Given the description of an element on the screen output the (x, y) to click on. 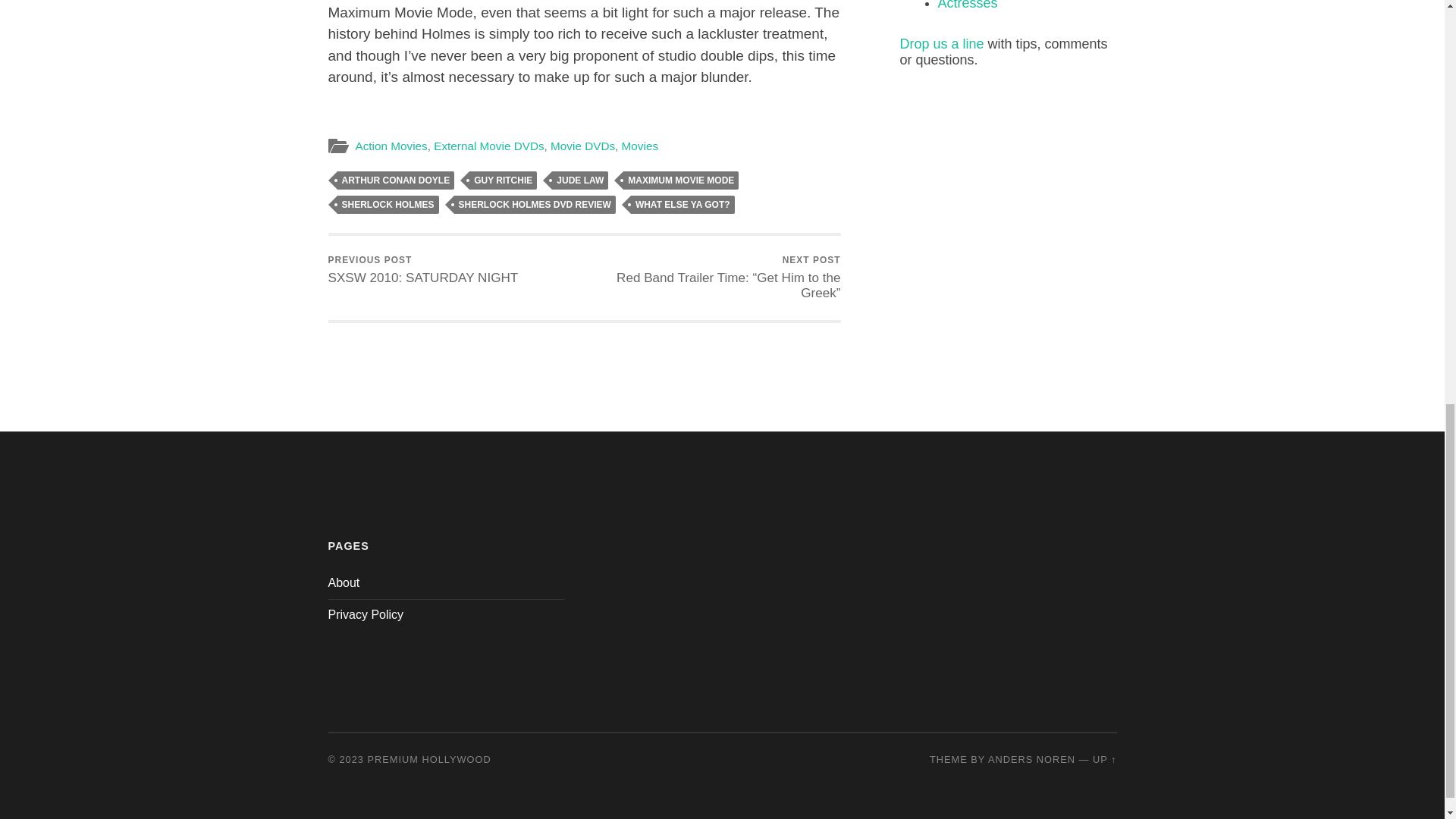
Action Movies (390, 145)
To the top (1104, 758)
MAXIMUM MOVIE MODE (680, 180)
JUDE LAW (579, 180)
SHERLOCK HOLMES (387, 204)
Movies (639, 145)
GUY RITCHIE (502, 180)
WHAT ELSE YA GOT? (682, 204)
Movie DVDs (422, 269)
